Given the description of an element on the screen output the (x, y) to click on. 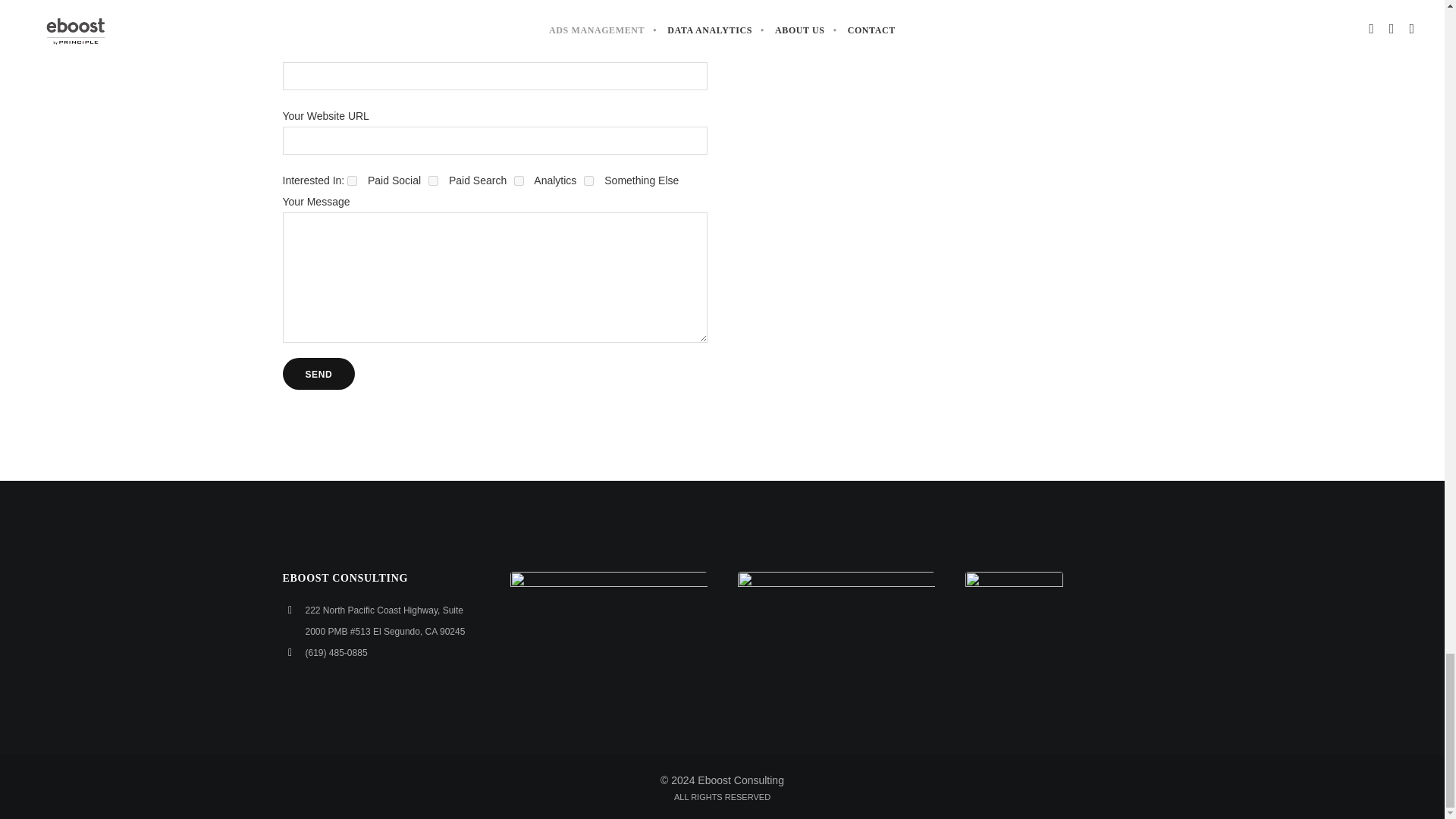
Paid Search (433, 180)
Paid Social (351, 180)
Something Else (588, 180)
Analytics (518, 180)
Send (318, 373)
